Given the description of an element on the screen output the (x, y) to click on. 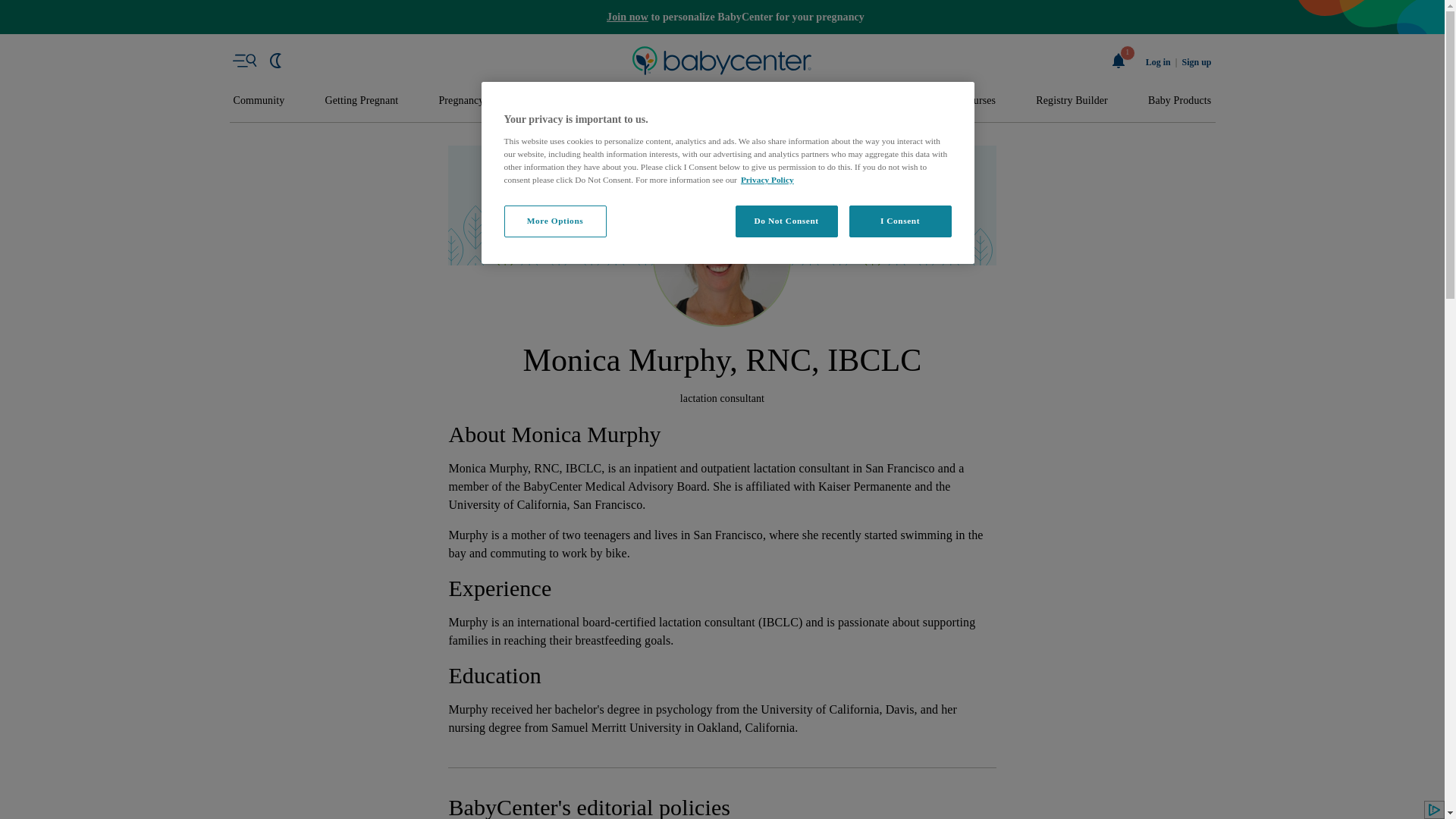
Registry Builder (1071, 101)
Baby (631, 101)
1 (1118, 60)
Pregnancy (460, 101)
Log in (1157, 61)
Sign up (1195, 61)
Community (258, 101)
Toddler (699, 101)
Baby Products (1179, 101)
Baby Names (551, 101)
Child (768, 101)
Getting Pregnant (360, 101)
Health (835, 101)
Courses (977, 101)
Family (904, 101)
